Given the description of an element on the screen output the (x, y) to click on. 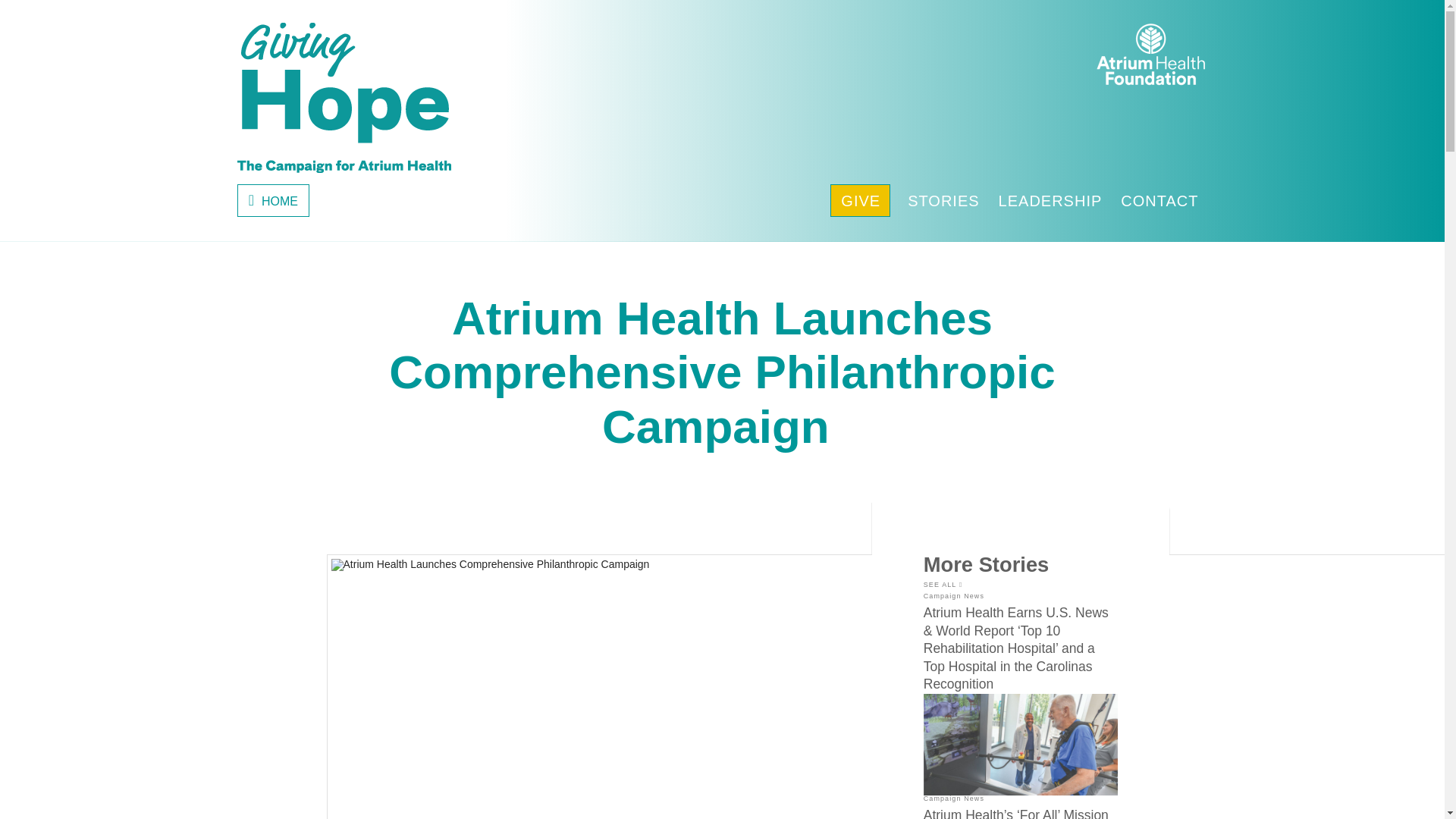
GIVE (859, 200)
HOME (271, 200)
CONTACT (1158, 200)
STORIES (943, 200)
SEE ALL (941, 584)
LEADERSHIP (1050, 200)
